Given the description of an element on the screen output the (x, y) to click on. 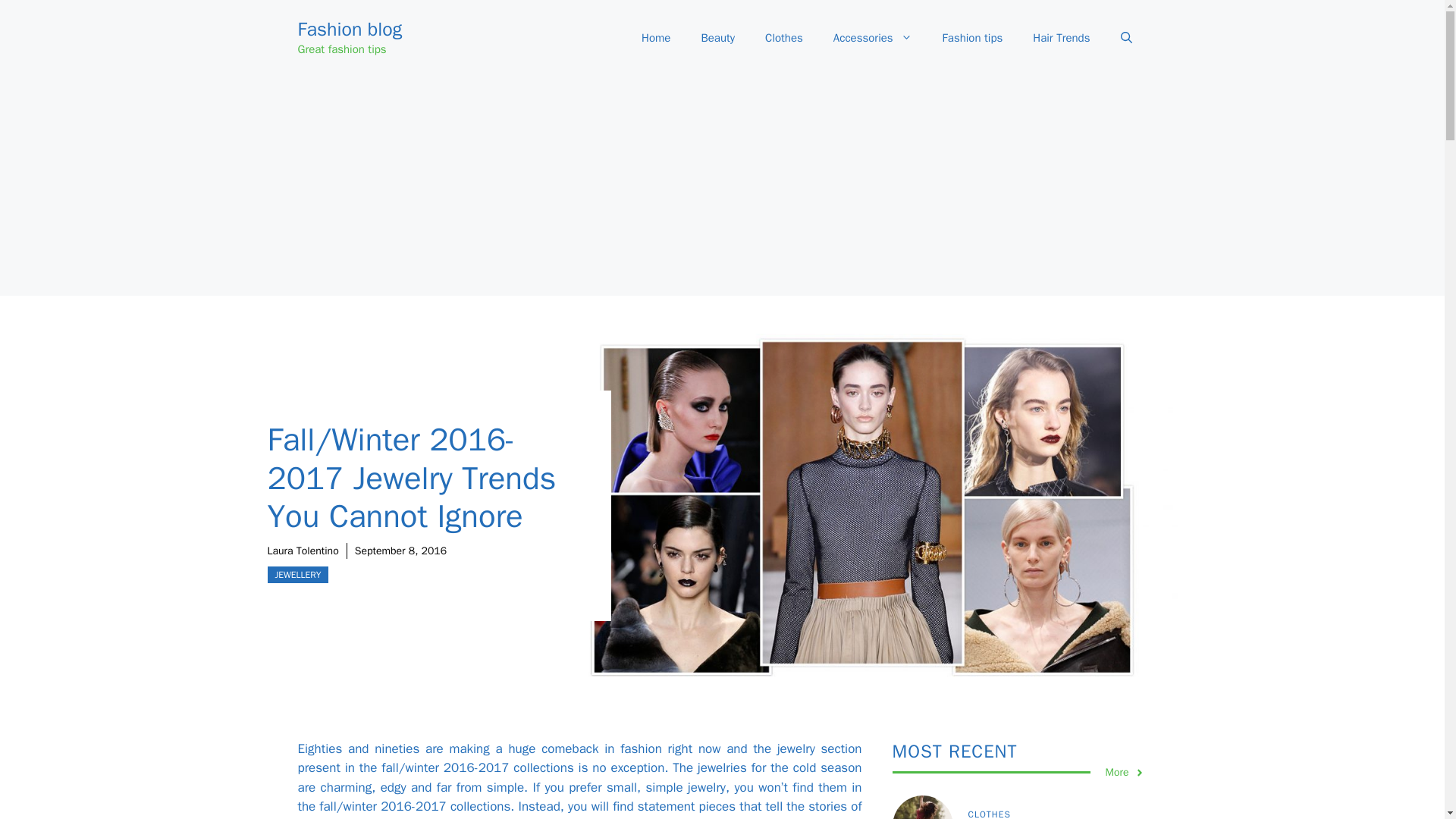
Clothes (783, 37)
Home (655, 37)
More (1124, 772)
Fashion blog (349, 28)
JEWELLERY (297, 574)
Fashion tips (972, 37)
Accessories (872, 37)
Beauty (717, 37)
Hair Trends (1061, 37)
Laura Tolentino (301, 550)
